Given the description of an element on the screen output the (x, y) to click on. 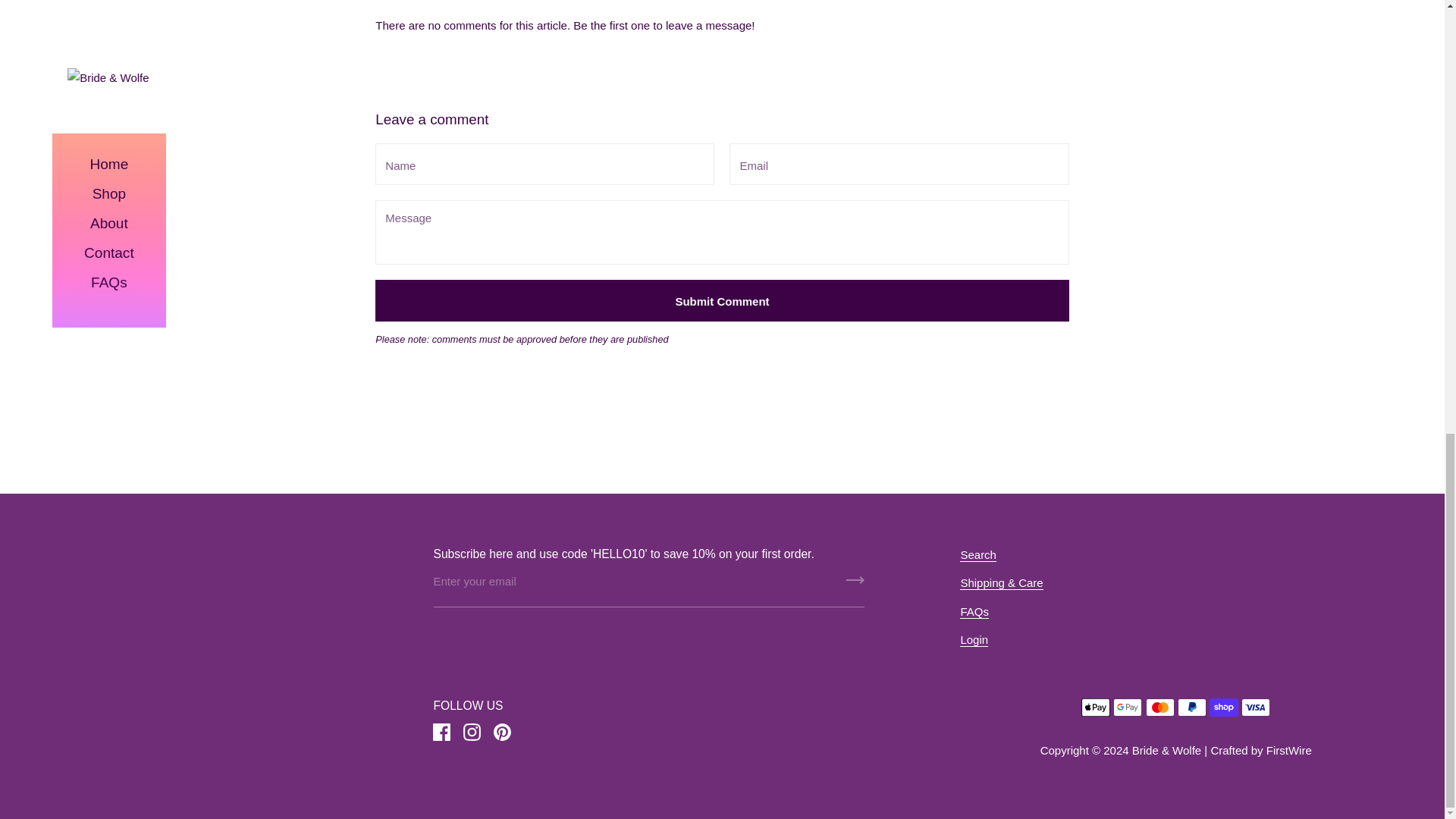
Submit Comment (721, 300)
Google Pay (1127, 707)
FirstWire (1288, 749)
Pinterest (501, 732)
FAQs (973, 612)
PayPal (1192, 707)
Search (977, 554)
Instagram (471, 732)
Visa (1255, 707)
Facebook (441, 732)
